Given the description of an element on the screen output the (x, y) to click on. 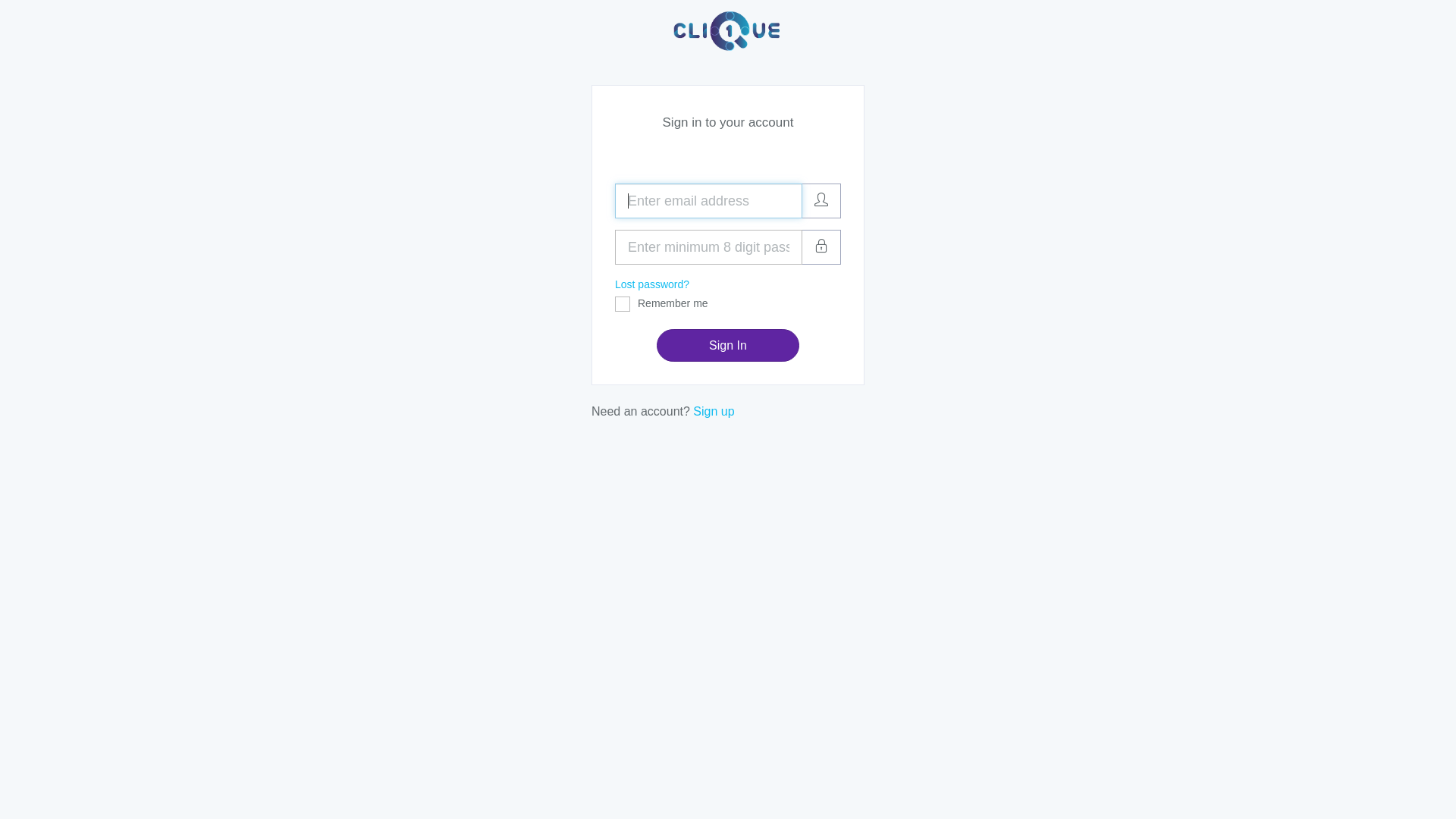
Lost password? Element type: text (652, 284)
Sign up Element type: text (713, 410)
Sign In Element type: text (728, 345)
